Given the description of an element on the screen output the (x, y) to click on. 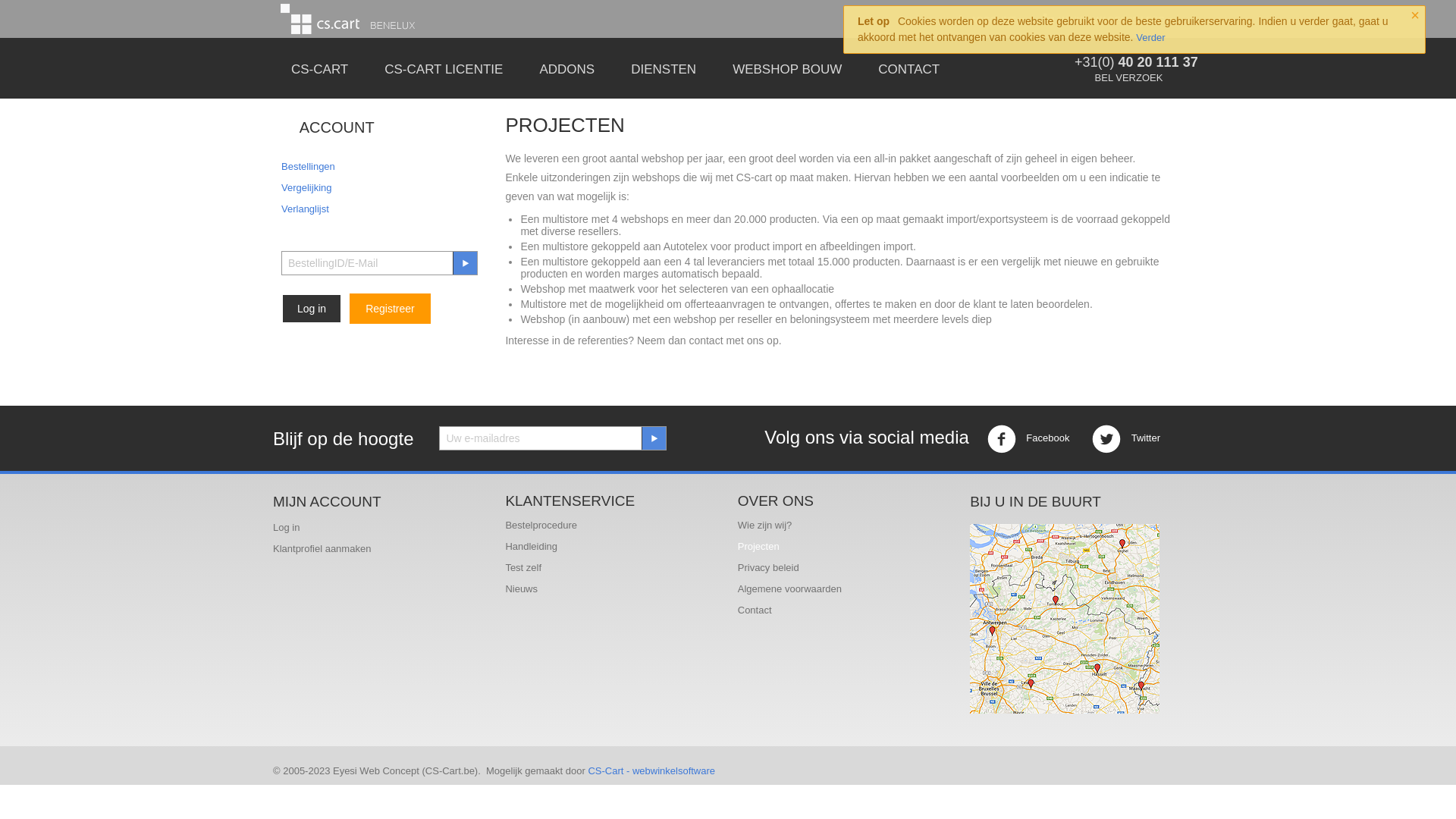
Ga Element type: hover (653, 437)
DIENSTEN Element type: text (663, 67)
Log in Element type: text (311, 308)
CS-CART LICENTIE Element type: text (443, 67)
Registreer Element type: text (389, 308)
Ga Element type: hover (464, 262)
  ACCOUNT Element type: text (989, 20)
Handleiding Element type: text (531, 546)
Privacy beleid Element type: text (768, 567)
  ACCOUNT Element type: text (328, 128)
Log in Element type: text (286, 527)
CONTACT Element type: text (908, 67)
Projecten Element type: text (758, 546)
Facebook Element type: text (1028, 438)
Verder Element type: text (1149, 37)
Contact Element type: text (754, 609)
CS-CART Element type: text (319, 67)
WEBSHOP BOUW Element type: text (786, 67)
CS-Cart - webwinkelsoftware Element type: text (651, 770)
Nieuws Element type: text (521, 588)
Bestellingen Element type: text (308, 166)
Klantprofiel aanmaken Element type: text (321, 548)
Bestelprocedure Element type: text (541, 524)
Test zelf Element type: text (523, 567)
WINKELWAGEN IS LEEG Element type: text (1108, 19)
BEL VERZOEK Element type: text (1129, 77)
Algemene voorwaarden Element type: text (789, 588)
Wie zijn wij? Element type: text (764, 524)
cs-cart belgie nederland Element type: hover (347, 17)
Verlanglijst Element type: text (305, 208)
Vergelijking Element type: text (306, 187)
Twitter Element type: text (1126, 438)
ADDONS Element type: text (566, 67)
